Given the description of an element on the screen output the (x, y) to click on. 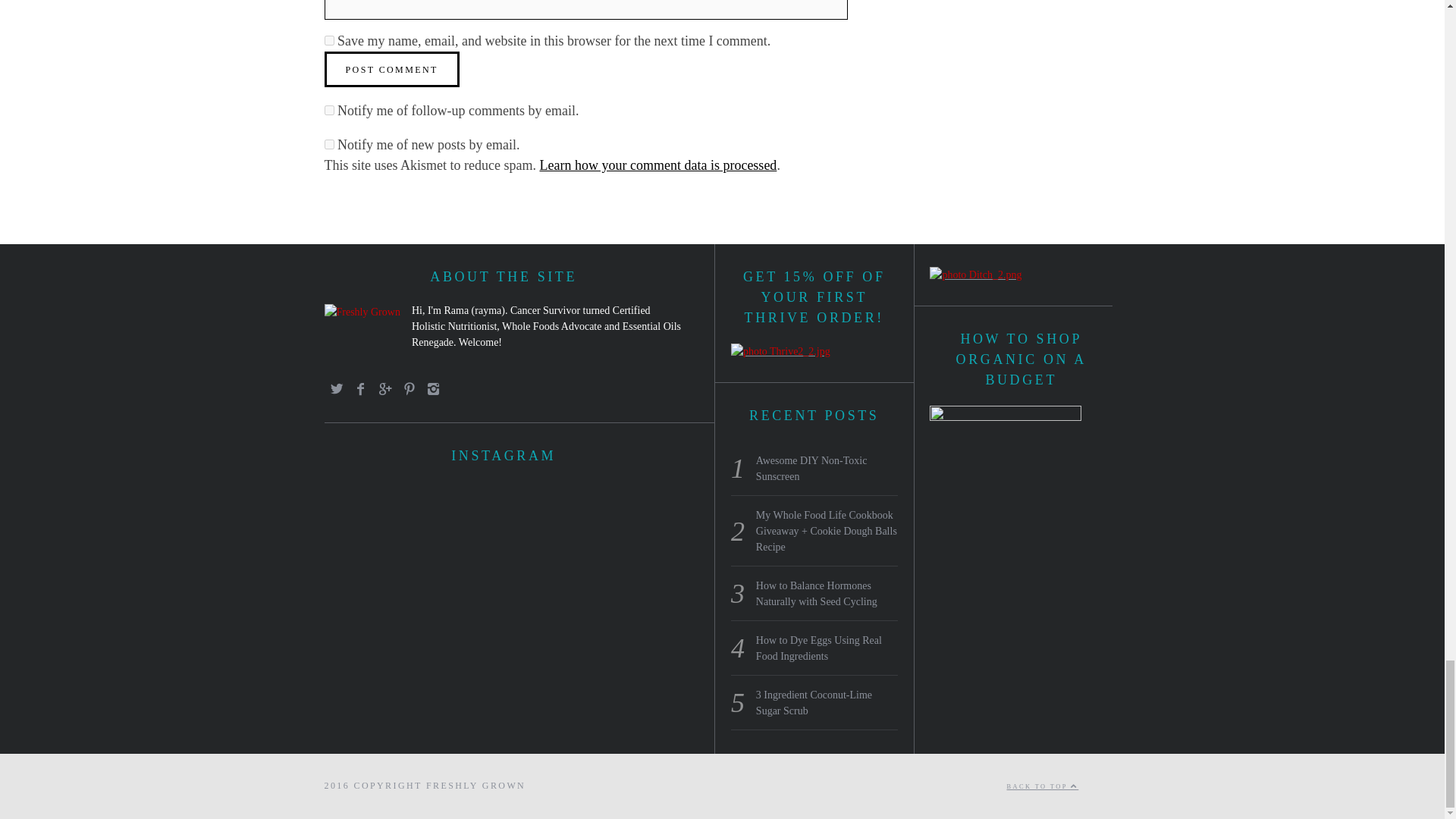
subscribe (329, 144)
Post Comment (392, 68)
subscribe (329, 110)
yes (329, 40)
